Given the description of an element on the screen output the (x, y) to click on. 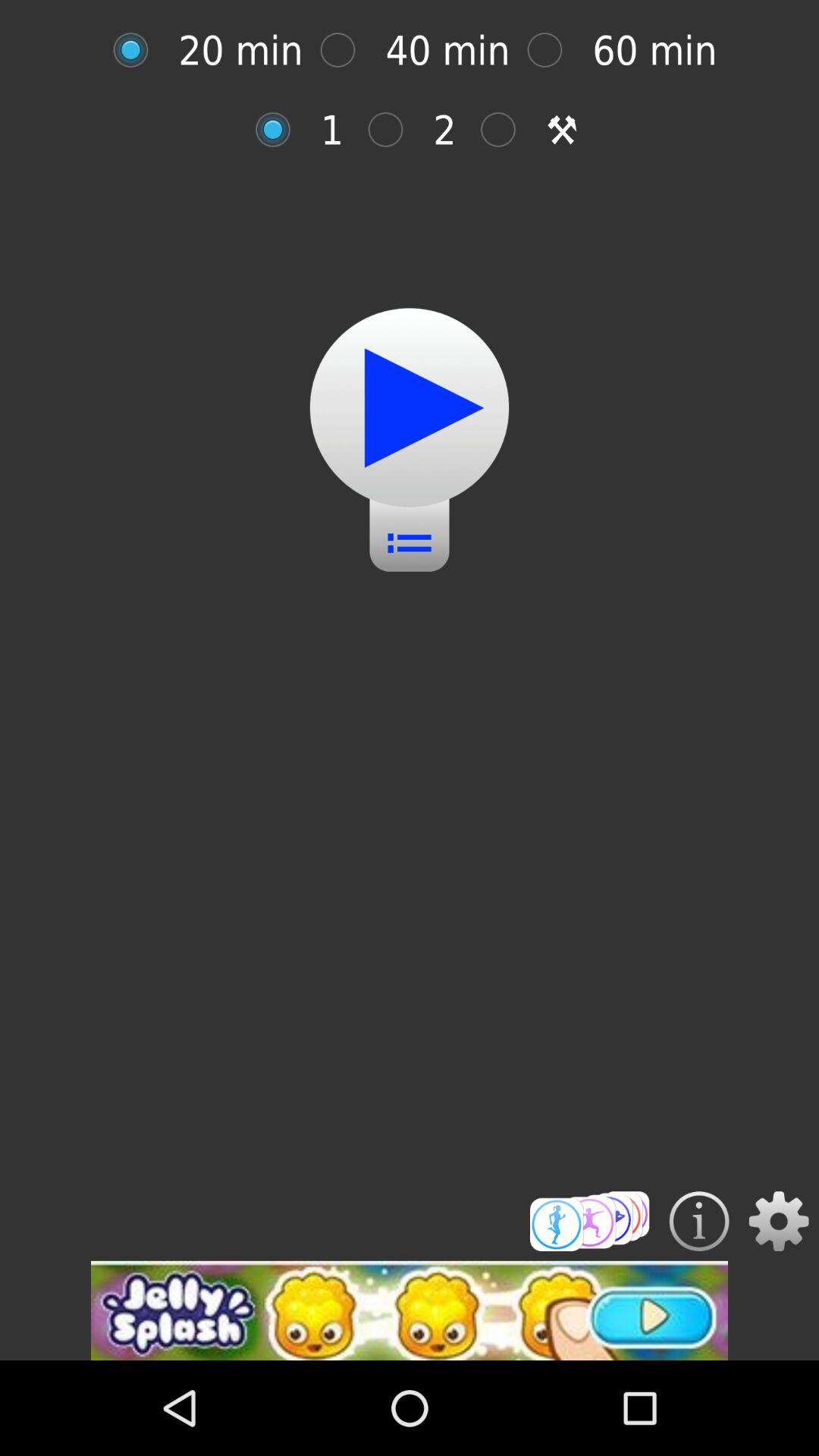
play button (409, 407)
